Given the description of an element on the screen output the (x, y) to click on. 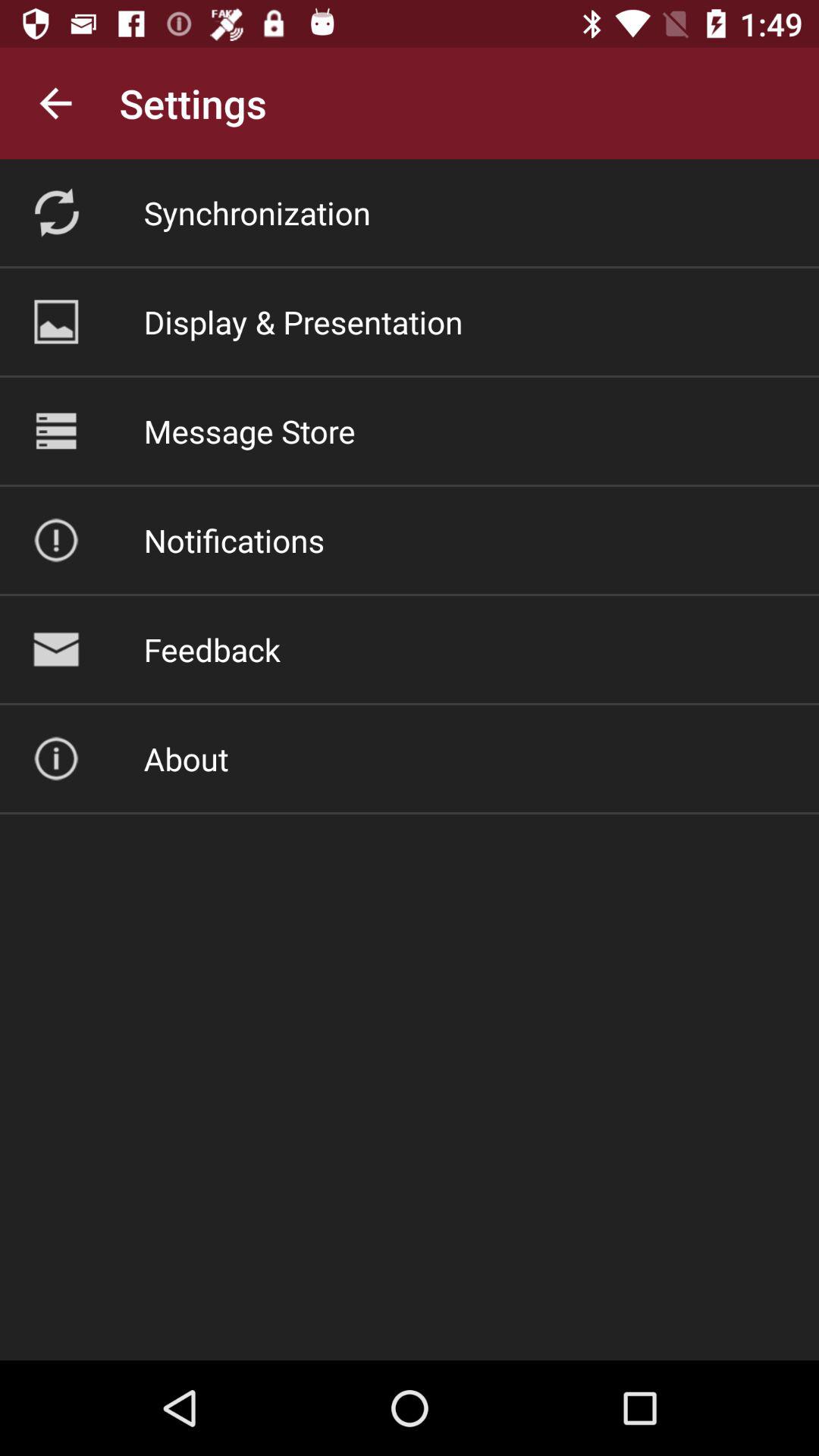
turn off icon above feedback icon (233, 539)
